Given the description of an element on the screen output the (x, y) to click on. 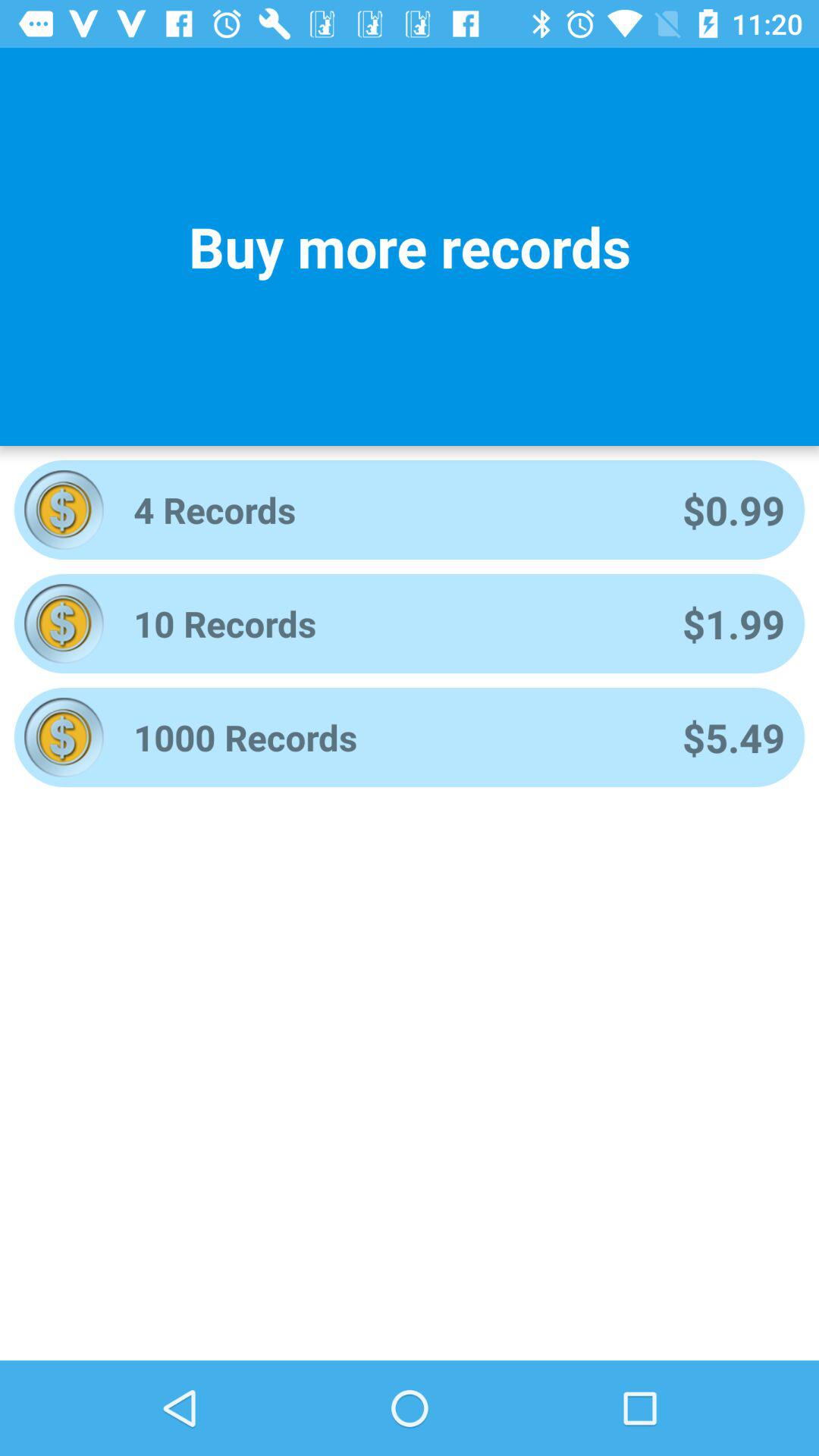
turn on app to the left of the $0.99 app (387, 509)
